Given the description of an element on the screen output the (x, y) to click on. 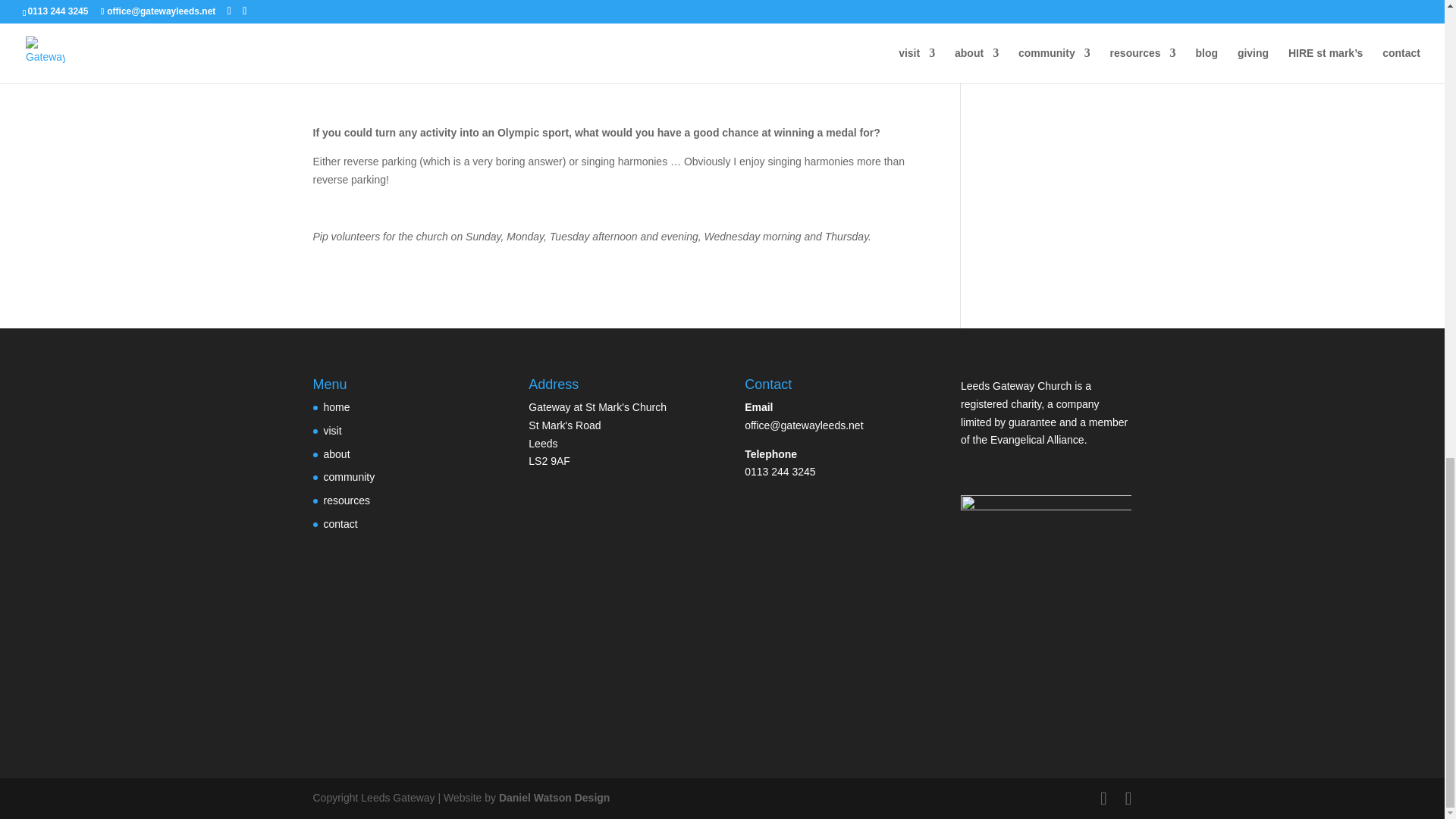
contact (339, 523)
home (336, 407)
about (336, 453)
resources (346, 500)
community (348, 476)
visit (331, 430)
